Given the description of an element on the screen output the (x, y) to click on. 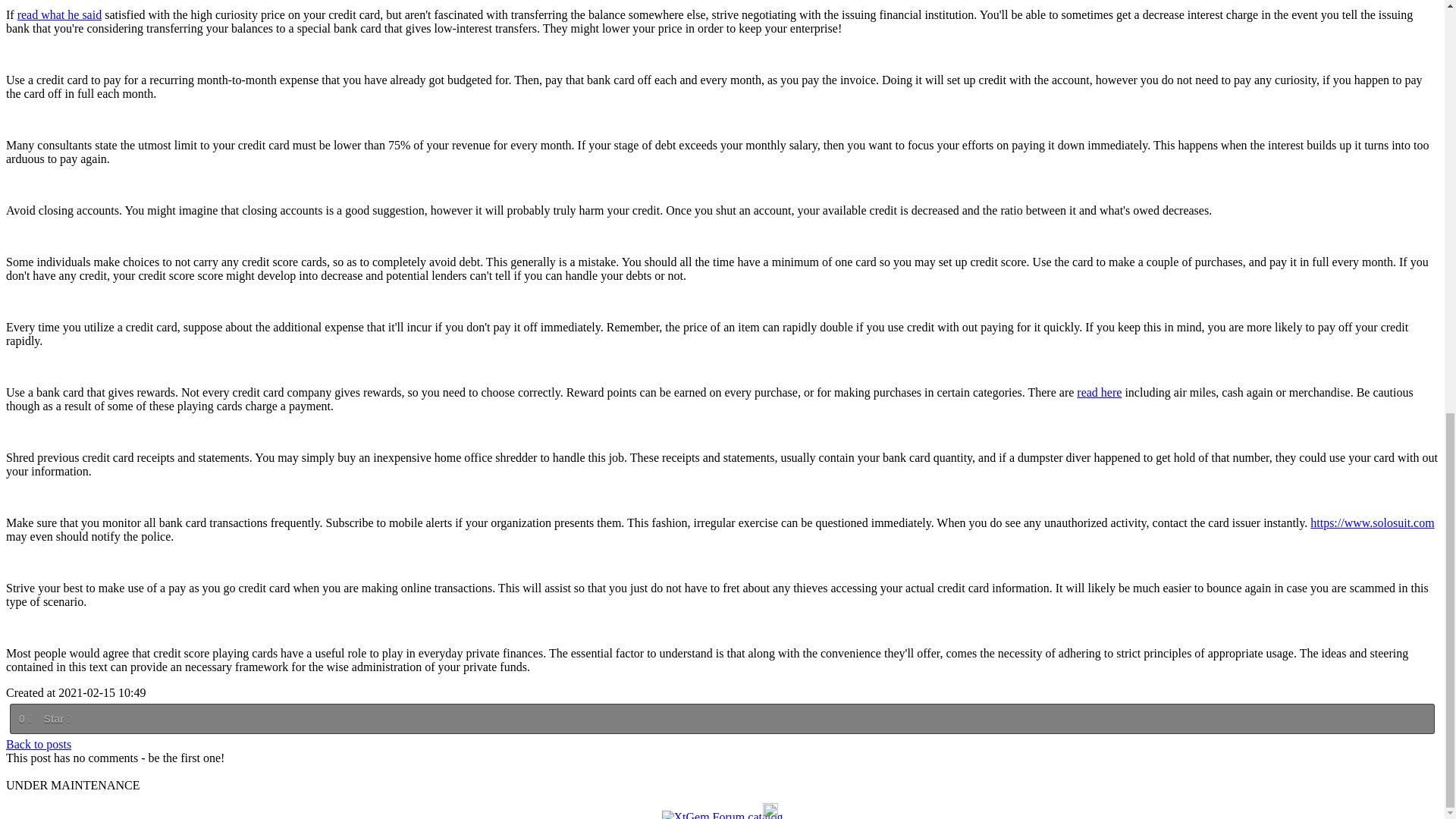
0 (24, 718)
read here (1099, 391)
read what he said (59, 14)
Back to posts (38, 744)
Star (56, 718)
